Given the description of an element on the screen output the (x, y) to click on. 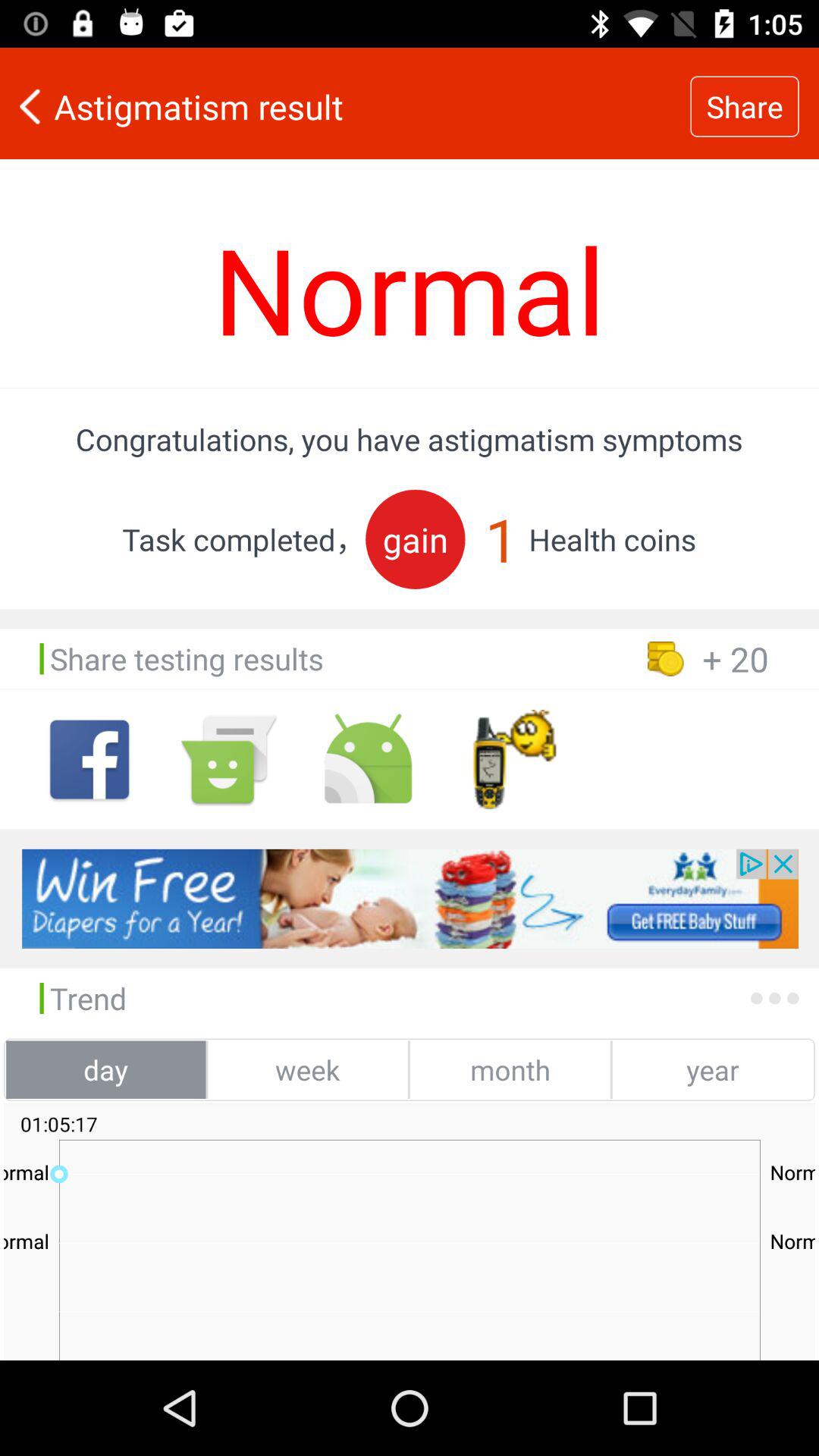
tap the month (510, 1069)
